Given the description of an element on the screen output the (x, y) to click on. 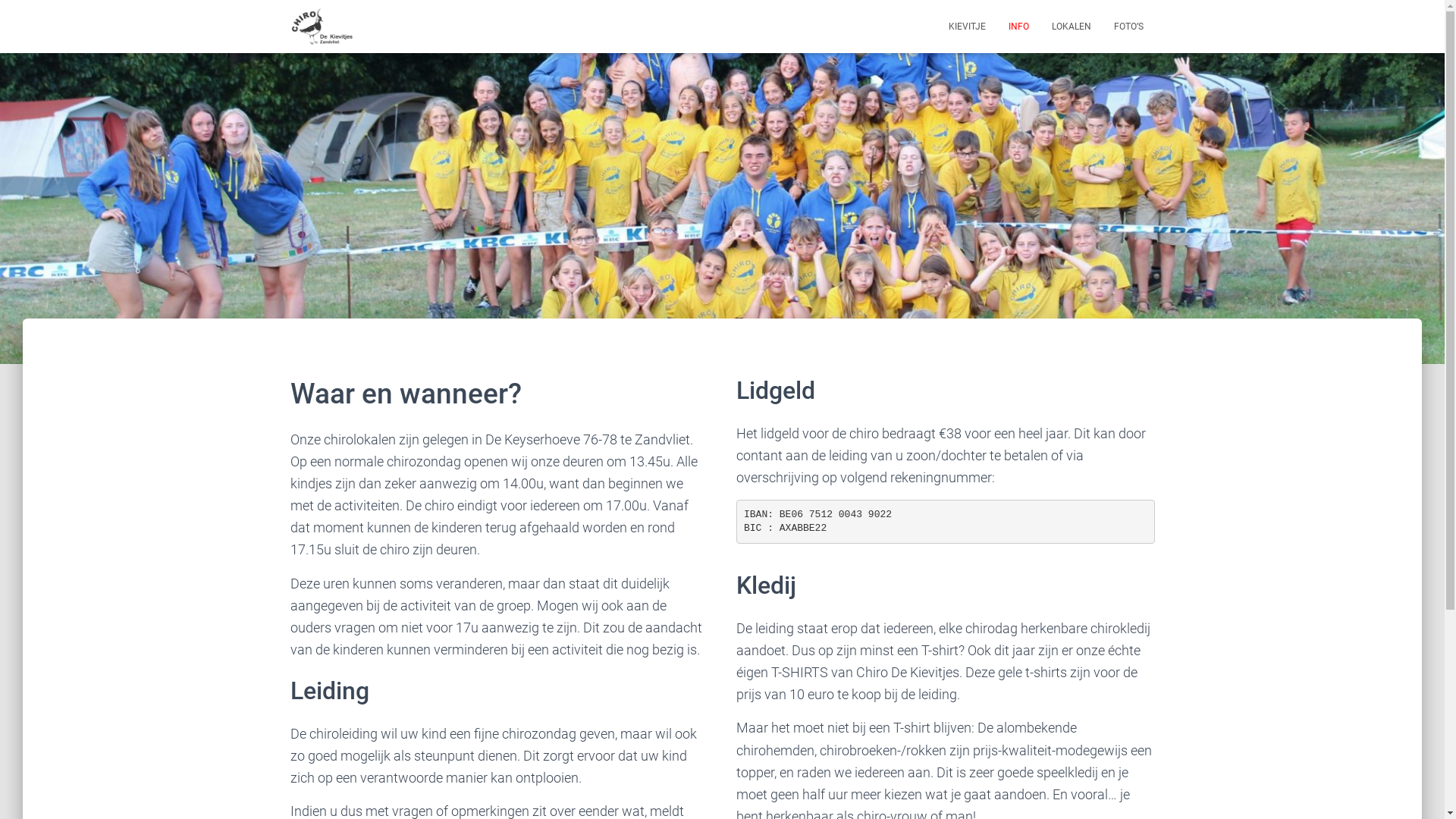
Chiro de Kievitjes Element type: hover (322, 26)
LOKALEN Element type: text (1071, 26)
INFO Element type: text (1017, 26)
KIEVITJE Element type: text (967, 26)
